Given the description of an element on the screen output the (x, y) to click on. 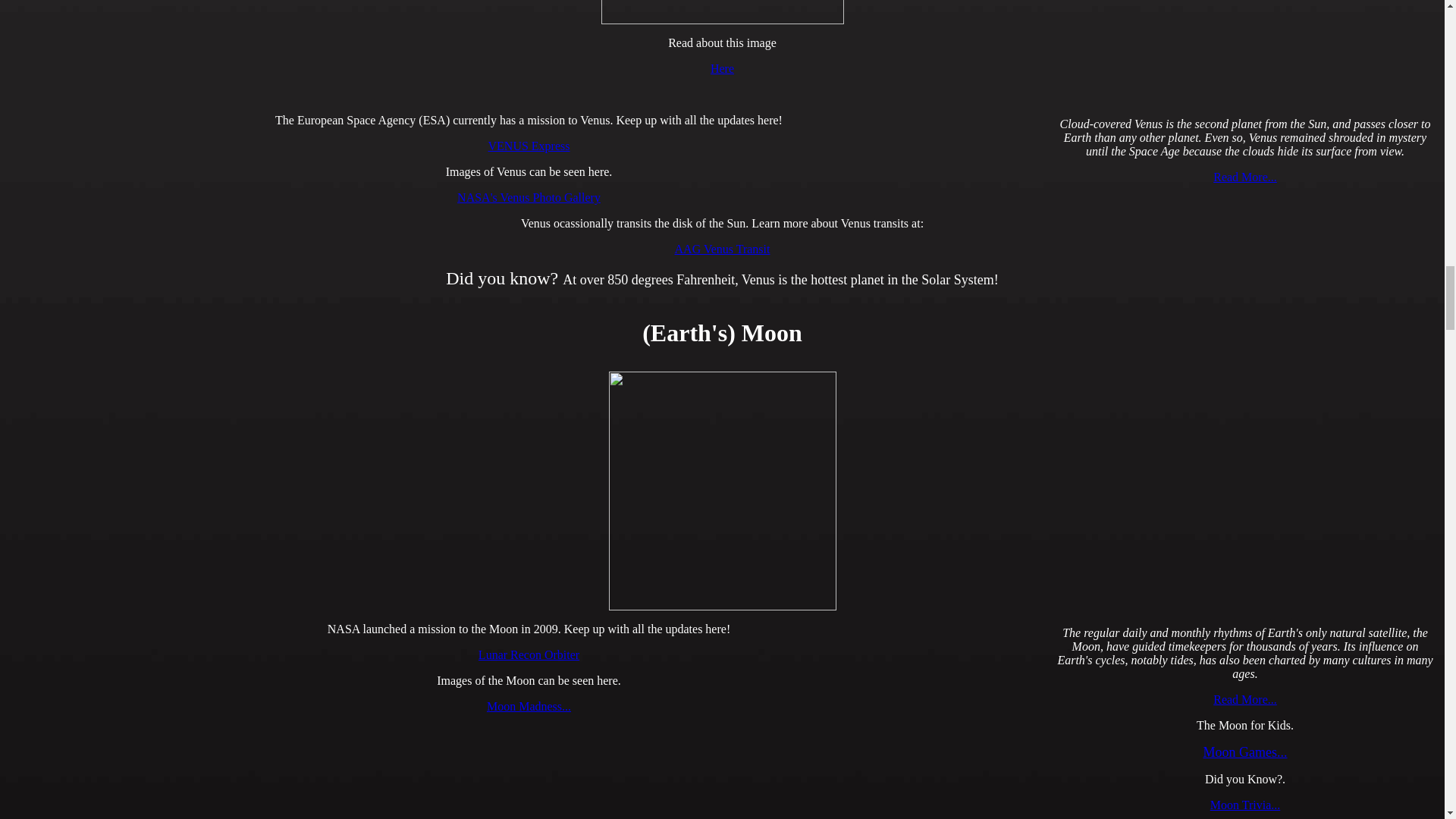
NASA's Venus Photo Gallery (528, 196)
Here (721, 68)
VENUS Express (528, 145)
Read More... (1244, 176)
